Given the description of an element on the screen output the (x, y) to click on. 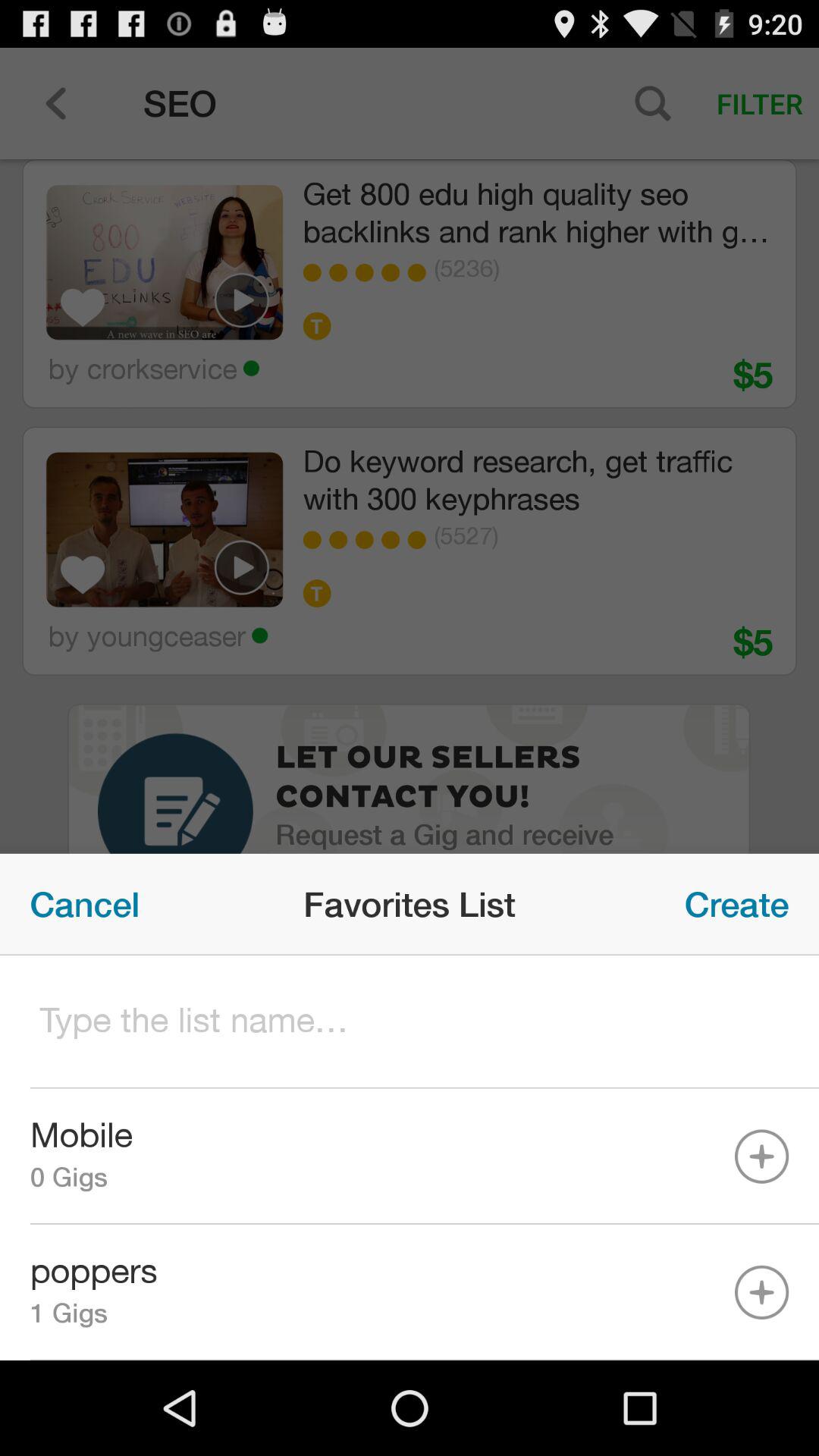
tap icon to the right of favorites list item (736, 903)
